Given the description of an element on the screen output the (x, y) to click on. 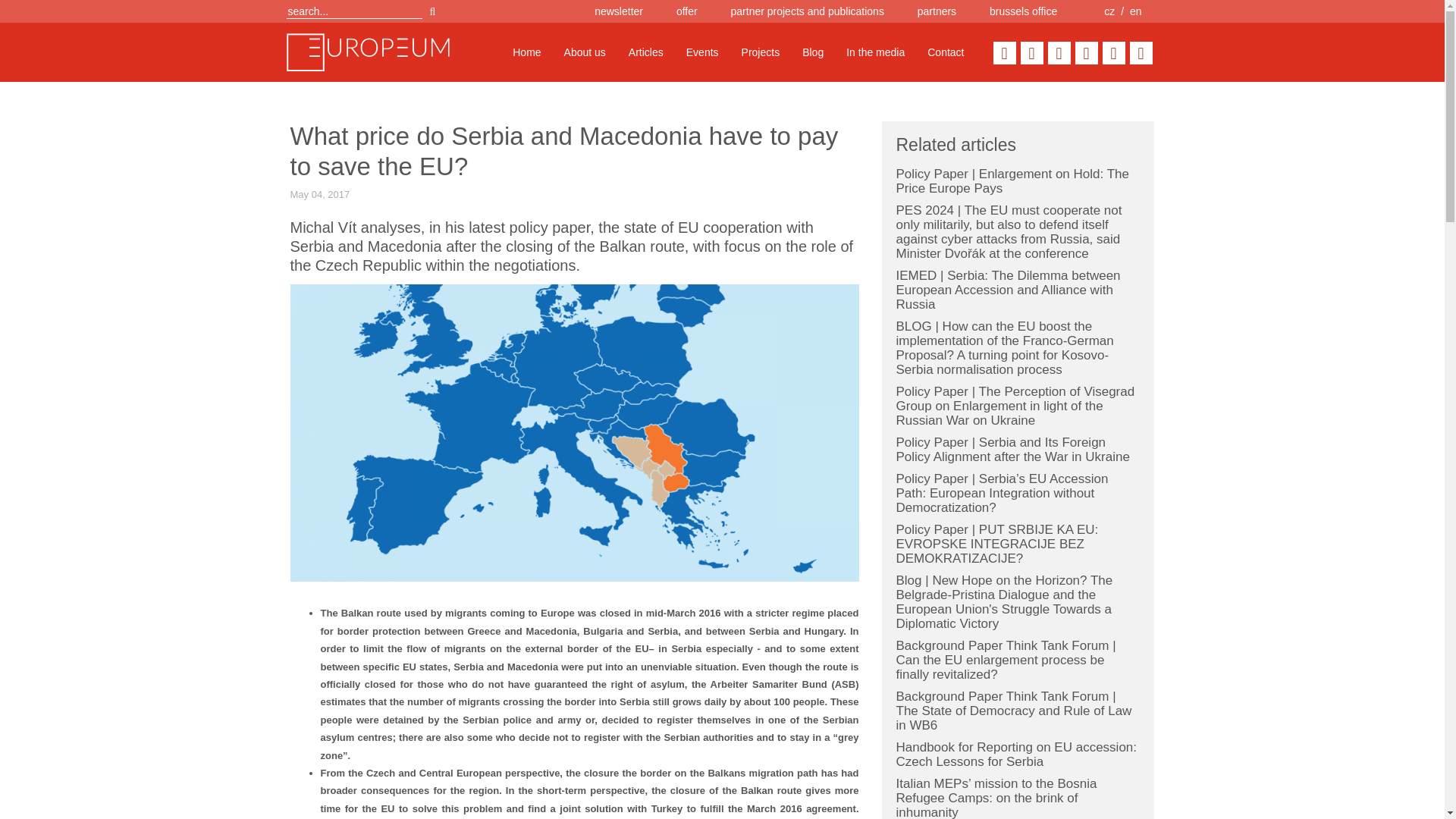
partners (936, 10)
Page 1 (574, 711)
offer (687, 10)
Contact (945, 51)
newsletter (618, 10)
Articles (646, 51)
In the media (874, 51)
Events (702, 51)
About us (585, 51)
brussels office (1023, 10)
Home (525, 51)
en (1135, 10)
Projects (761, 51)
partner projects and publications (806, 10)
newsletter (618, 10)
